Given the description of an element on the screen output the (x, y) to click on. 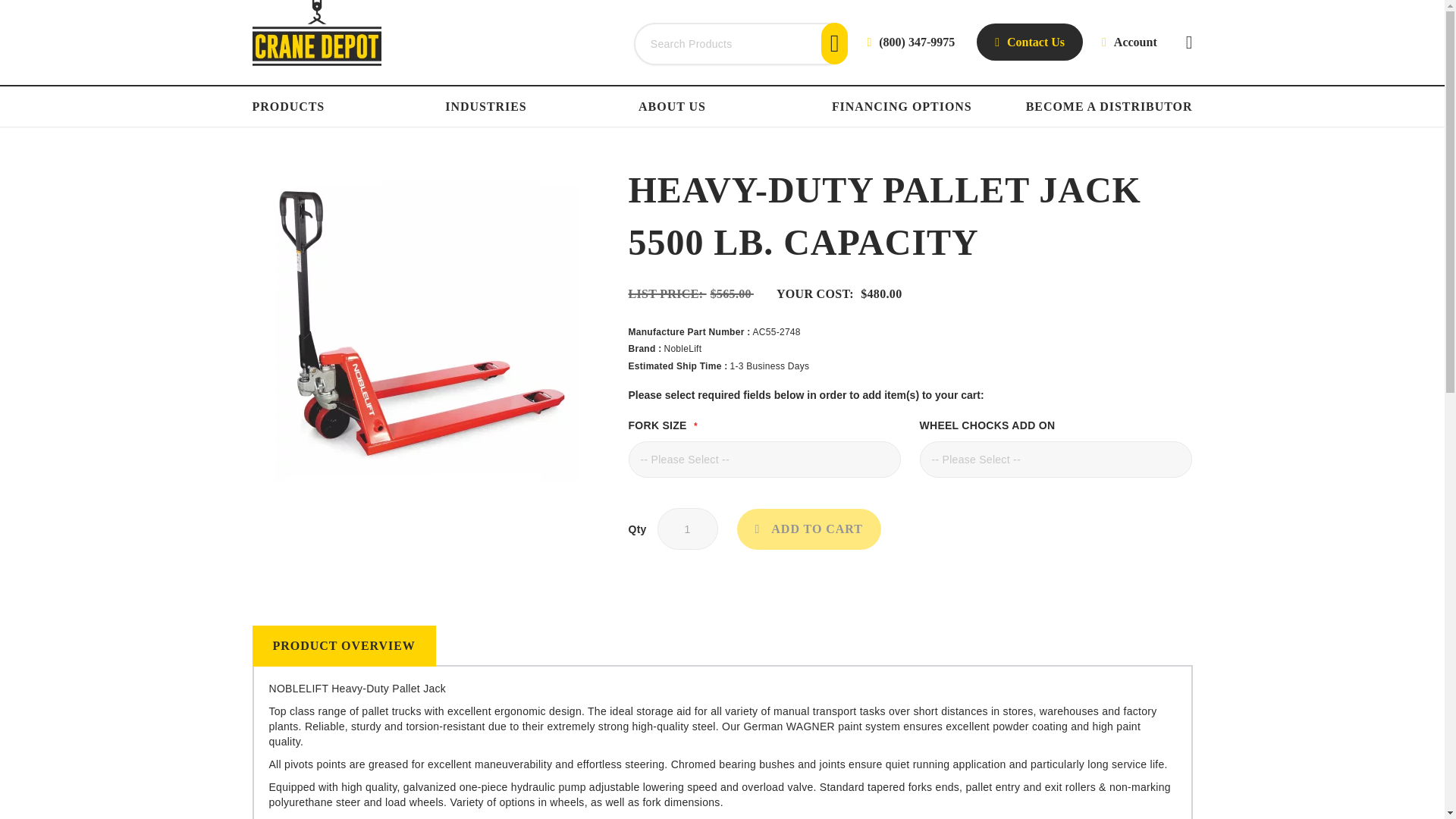
Qty (687, 528)
Contact Us (1029, 41)
1 (687, 528)
Account (1129, 42)
Add to Cart (808, 528)
PRODUCTS (291, 106)
